Given the description of an element on the screen output the (x, y) to click on. 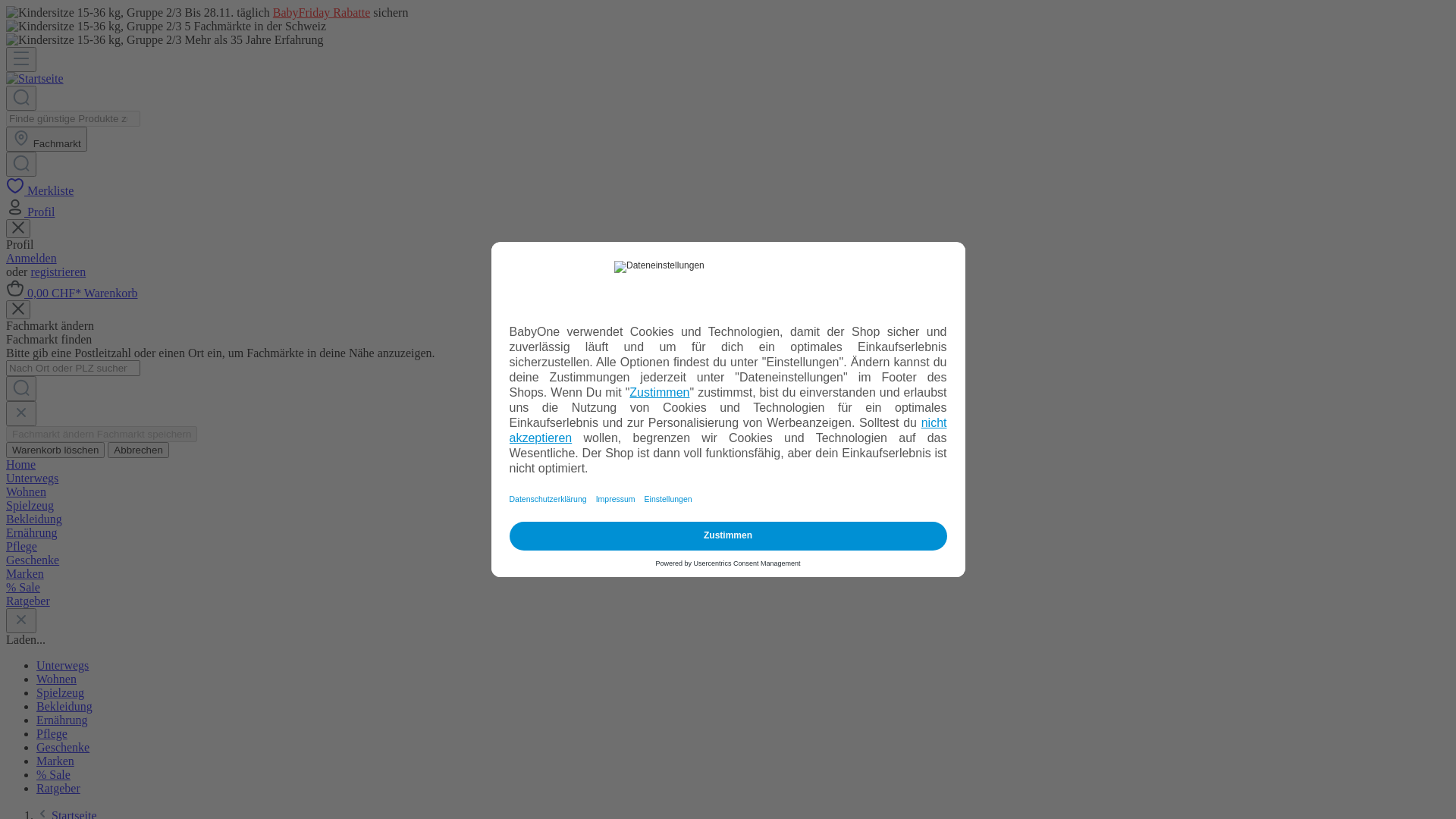
Geschenke Element type: text (62, 746)
Home Element type: text (727, 464)
Ratgeber Element type: text (58, 787)
Pflege Element type: text (51, 733)
Profil Element type: text (30, 211)
Anmelden Element type: text (31, 257)
Fachmarkt Element type: text (46, 138)
Ratgeber Element type: text (727, 601)
Wohnen Element type: text (727, 491)
Abbrechen Element type: text (137, 450)
registrieren Element type: text (57, 271)
BabyFriday Rabatte Element type: text (321, 12)
Unterwegs Element type: text (727, 478)
Startseite Element type: hover (34, 78)
% Sale Element type: text (727, 587)
Merkliste Element type: text (39, 190)
Spielzeug Element type: text (727, 505)
Geschenke Element type: text (727, 560)
Unterwegs Element type: text (62, 664)
Bekleidung Element type: text (64, 705)
% Sale Element type: text (53, 774)
Pflege Element type: text (727, 546)
Marken Element type: text (727, 573)
Spielzeug Element type: text (60, 692)
0,00 CHF* Warenkorb Element type: text (72, 292)
Wohnen Element type: text (56, 678)
Bekleidung Element type: text (727, 519)
Marken Element type: text (55, 760)
